Given the description of an element on the screen output the (x, y) to click on. 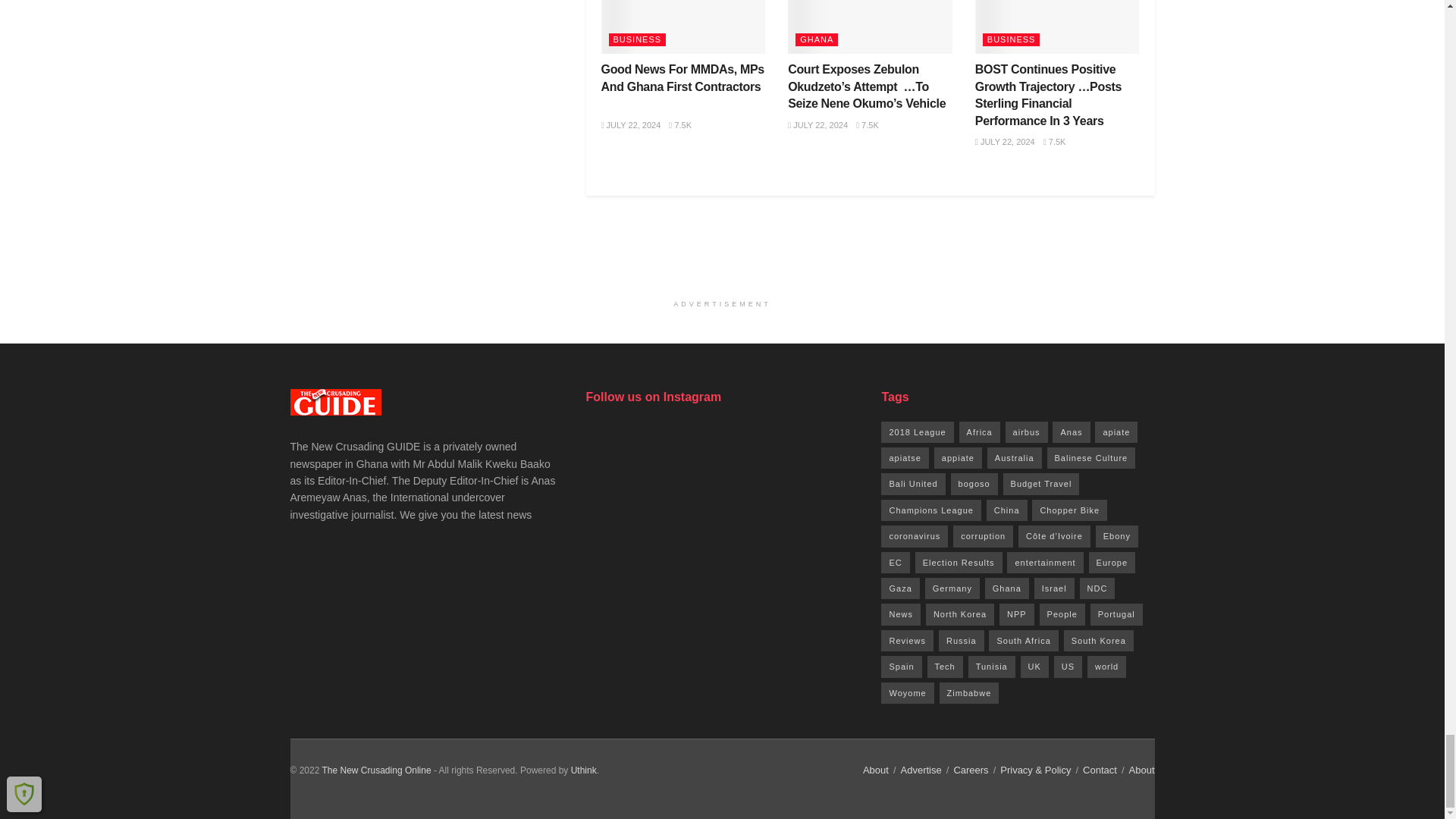
what do you think? (583, 769)
The New Crusading Guide Online  (375, 769)
